Given the description of an element on the screen output the (x, y) to click on. 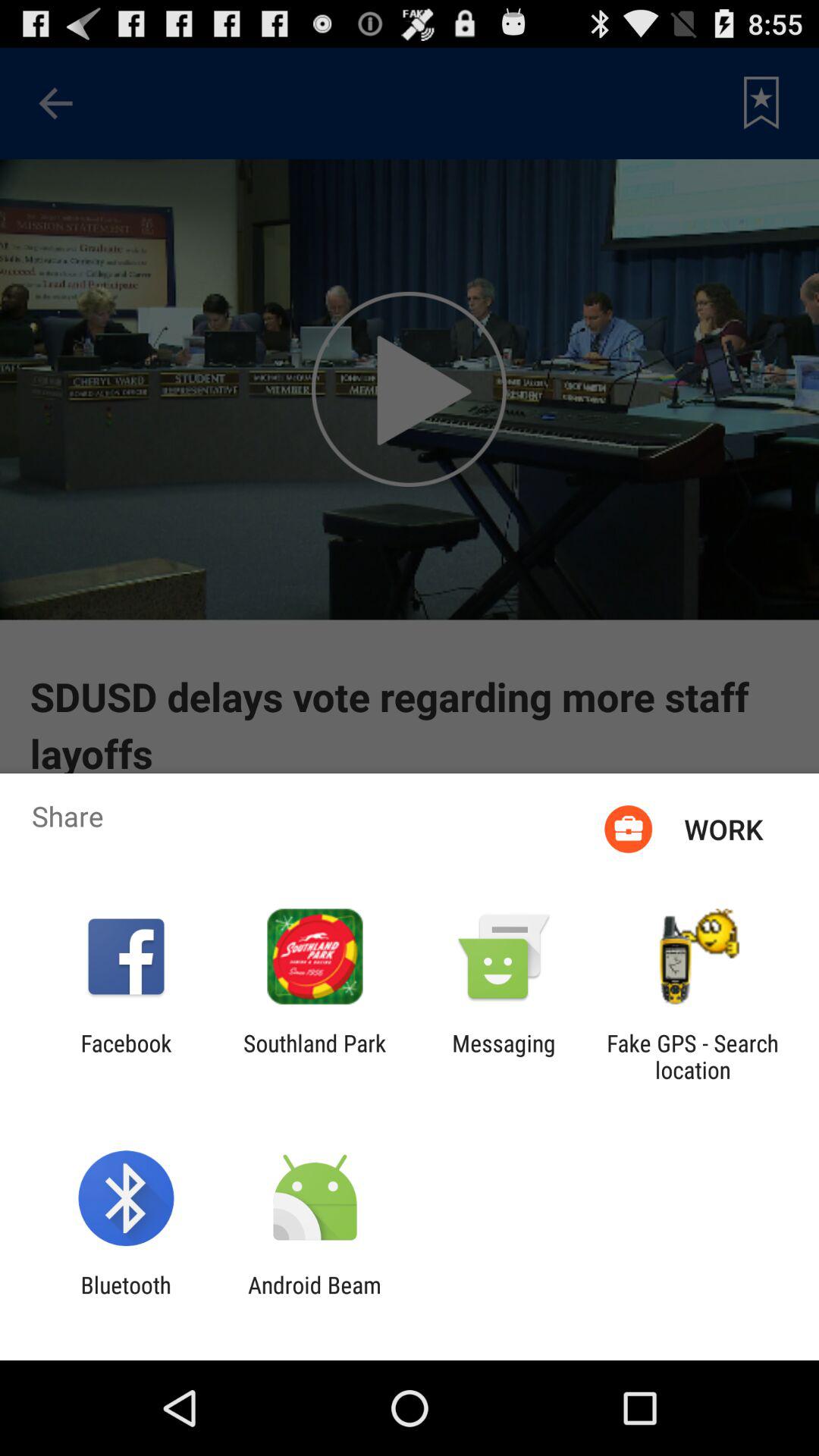
turn on the icon to the left of the fake gps search app (503, 1056)
